Given the description of an element on the screen output the (x, y) to click on. 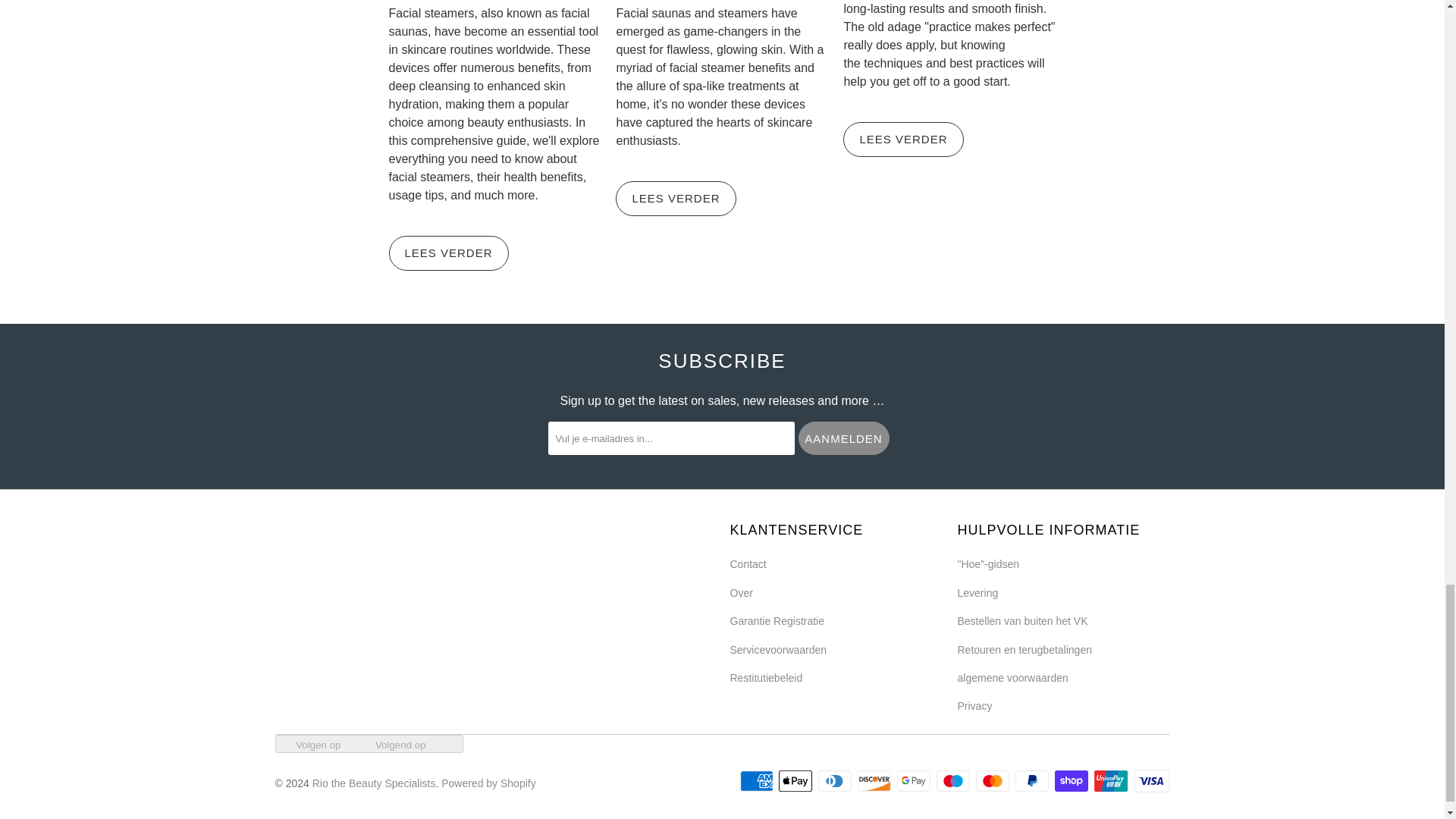
PayPal (1032, 780)
American Express (757, 780)
Google Pay (914, 780)
Aanmelden (842, 438)
Visa (1150, 780)
Union Pay (1112, 780)
Shop Pay (1072, 780)
Apple Pay (796, 780)
Diners Club (836, 780)
Maestro (954, 780)
